Given the description of an element on the screen output the (x, y) to click on. 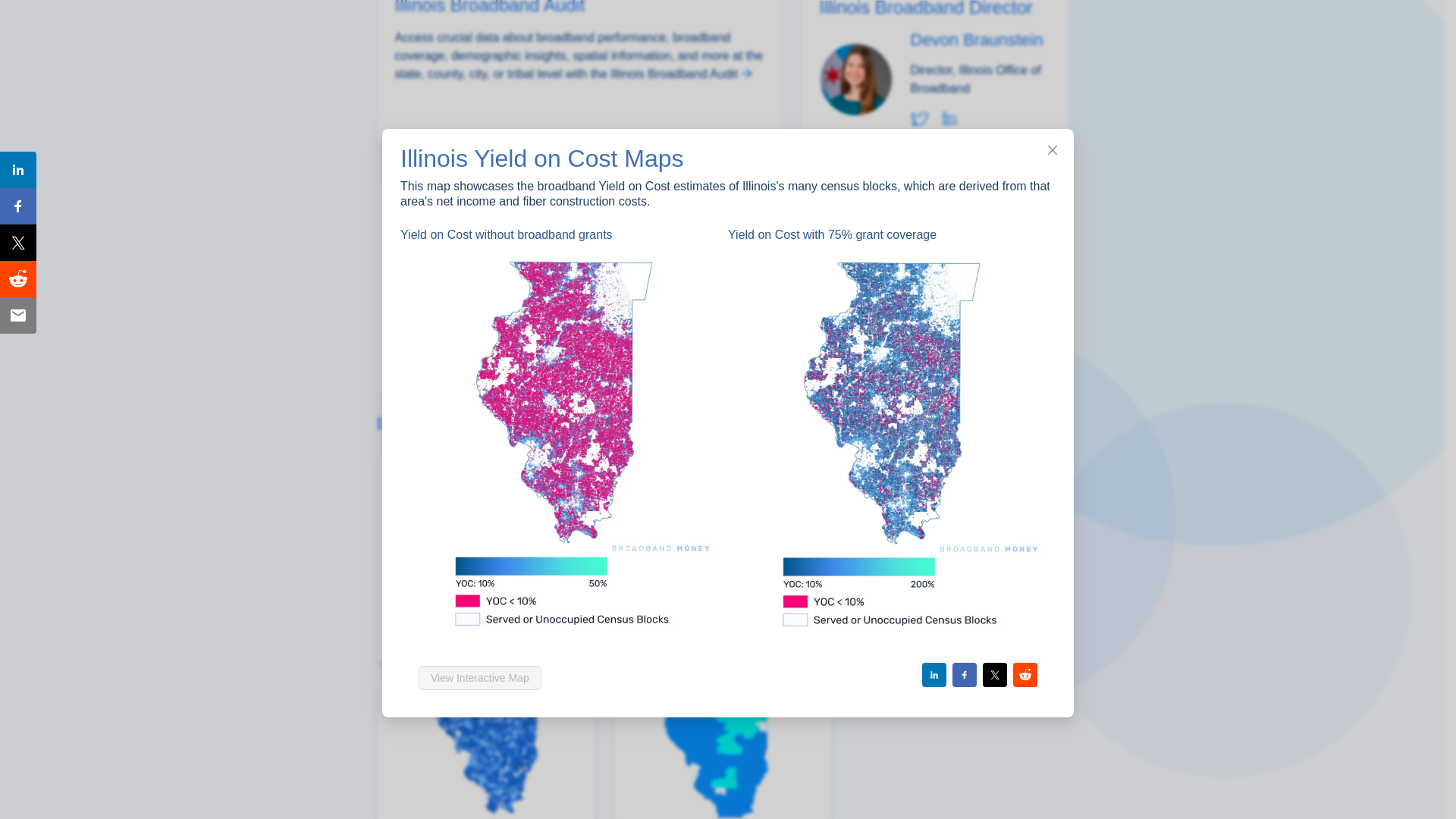
Illinois Broadband Audit (579, 41)
